Given the description of an element on the screen output the (x, y) to click on. 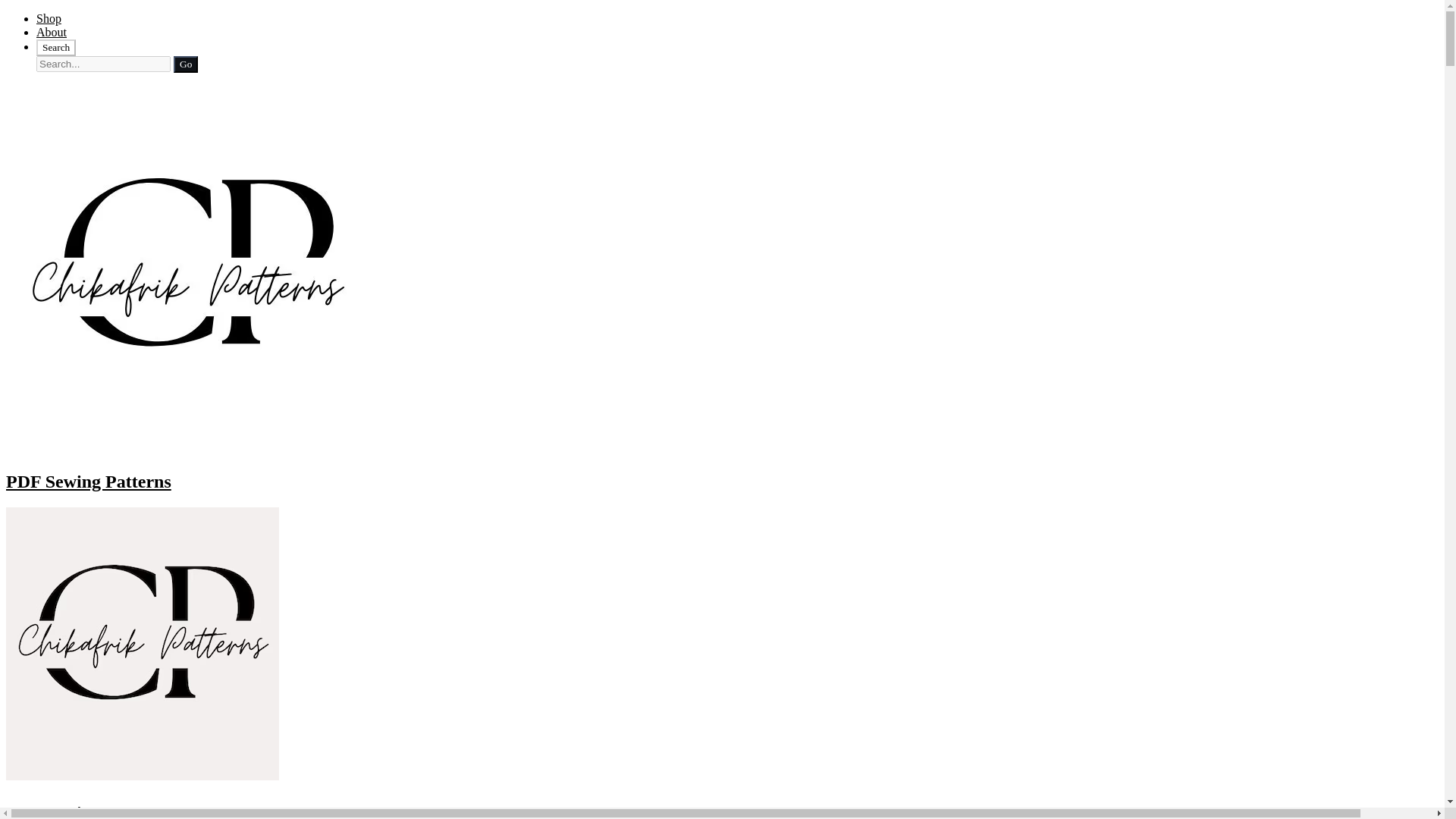
Shop (48, 18)
Go (185, 64)
About (51, 31)
Go (185, 64)
Search (55, 47)
